Given the description of an element on the screen output the (x, y) to click on. 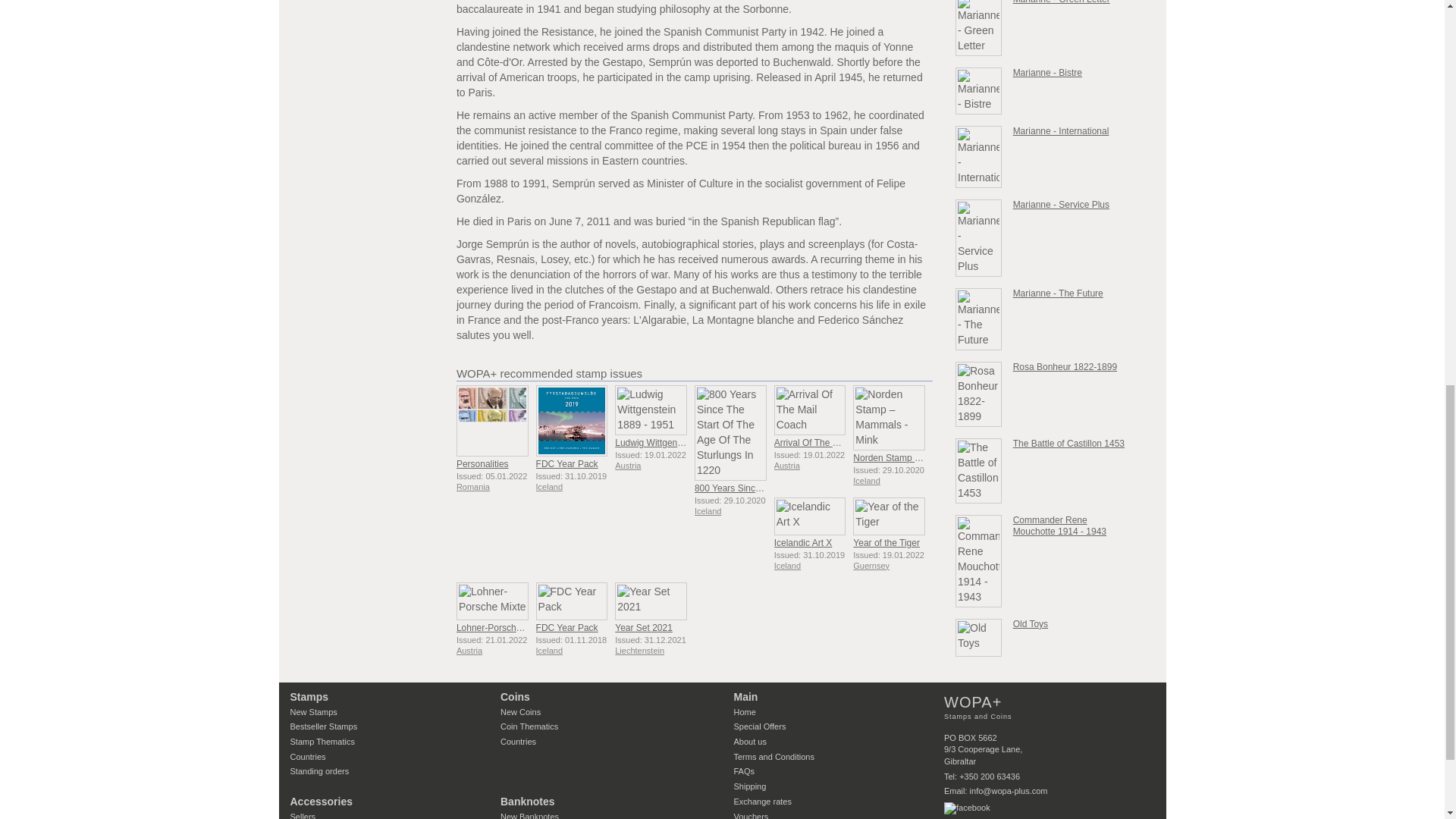
Personalities (482, 463)
Personalities (492, 420)
